Given the description of an element on the screen output the (x, y) to click on. 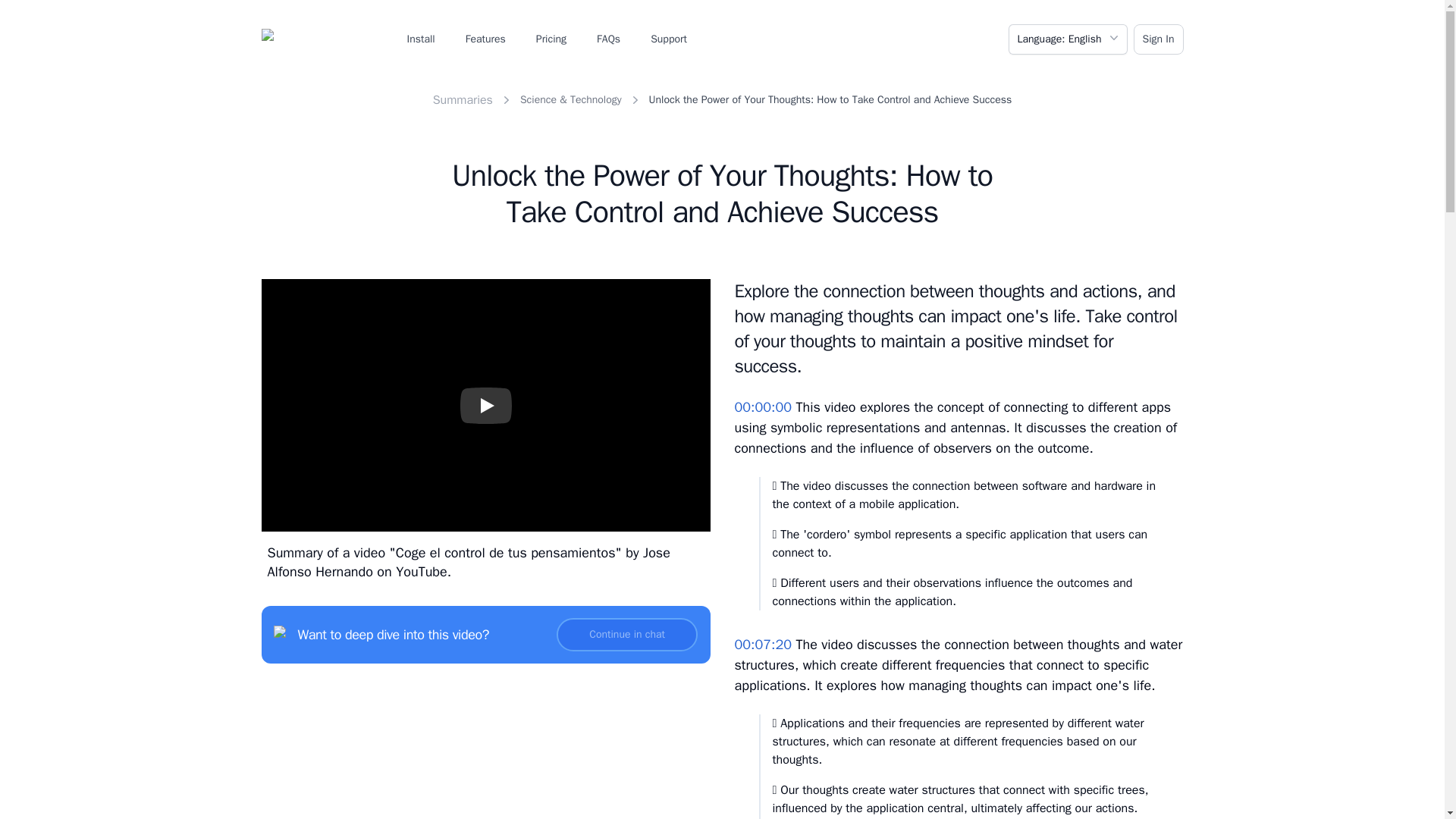
Sign In (1158, 39)
Continue in chat (627, 633)
Features (486, 39)
Support (668, 39)
Language: English (1067, 39)
Continue in chat (627, 634)
FAQs (608, 39)
Pricing (551, 39)
Install (420, 39)
Summaries (462, 99)
